Given the description of an element on the screen output the (x, y) to click on. 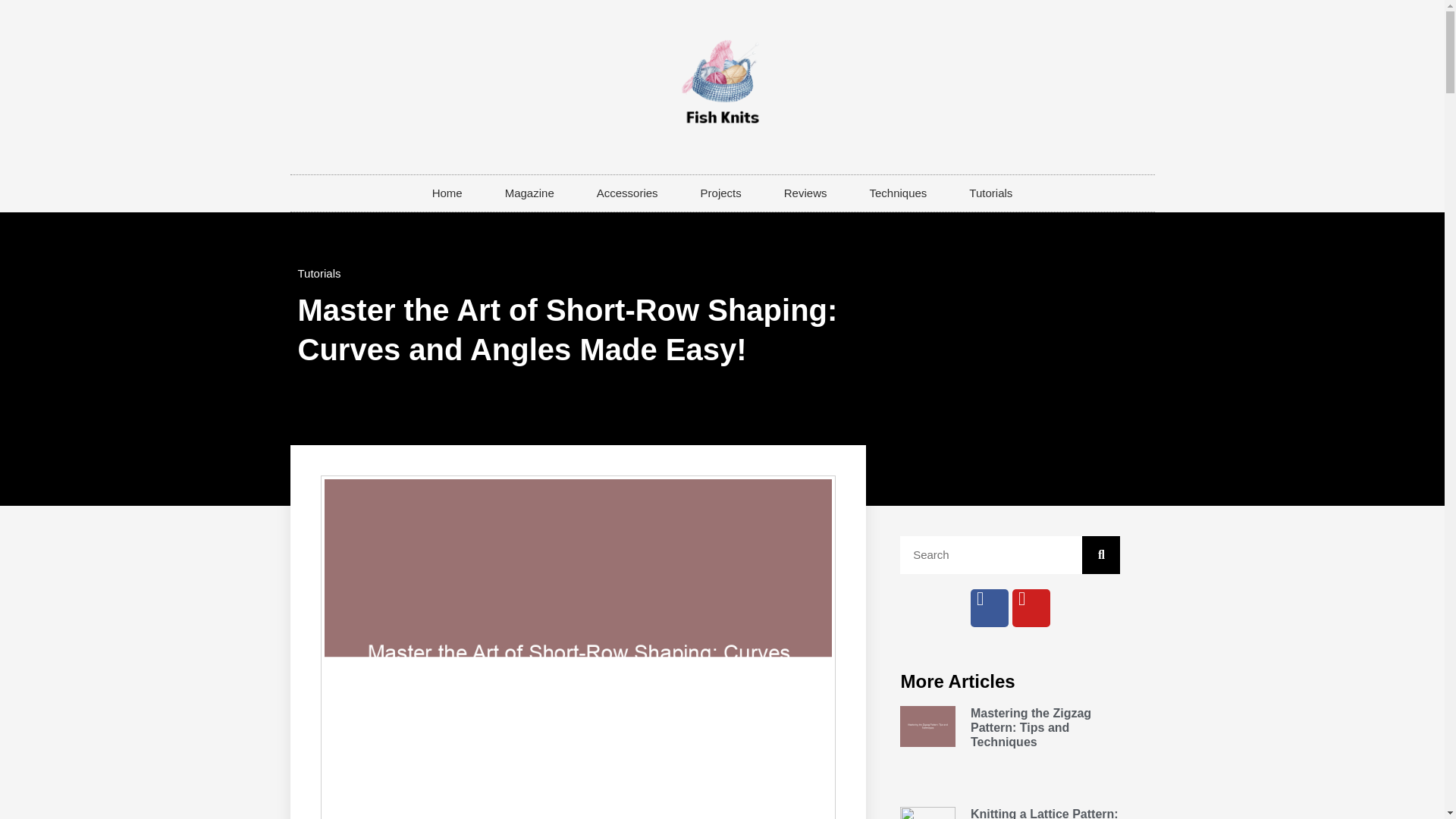
Reviews (805, 193)
Mastering the Zigzag Pattern: Tips and Techniques (1030, 727)
Magazine (529, 193)
Home (446, 193)
Knitting a Lattice Pattern: Techniques and Tips (1044, 813)
Techniques (897, 193)
Tutorials (990, 193)
Projects (720, 193)
Accessories (627, 193)
Tutorials (318, 273)
